Given the description of an element on the screen output the (x, y) to click on. 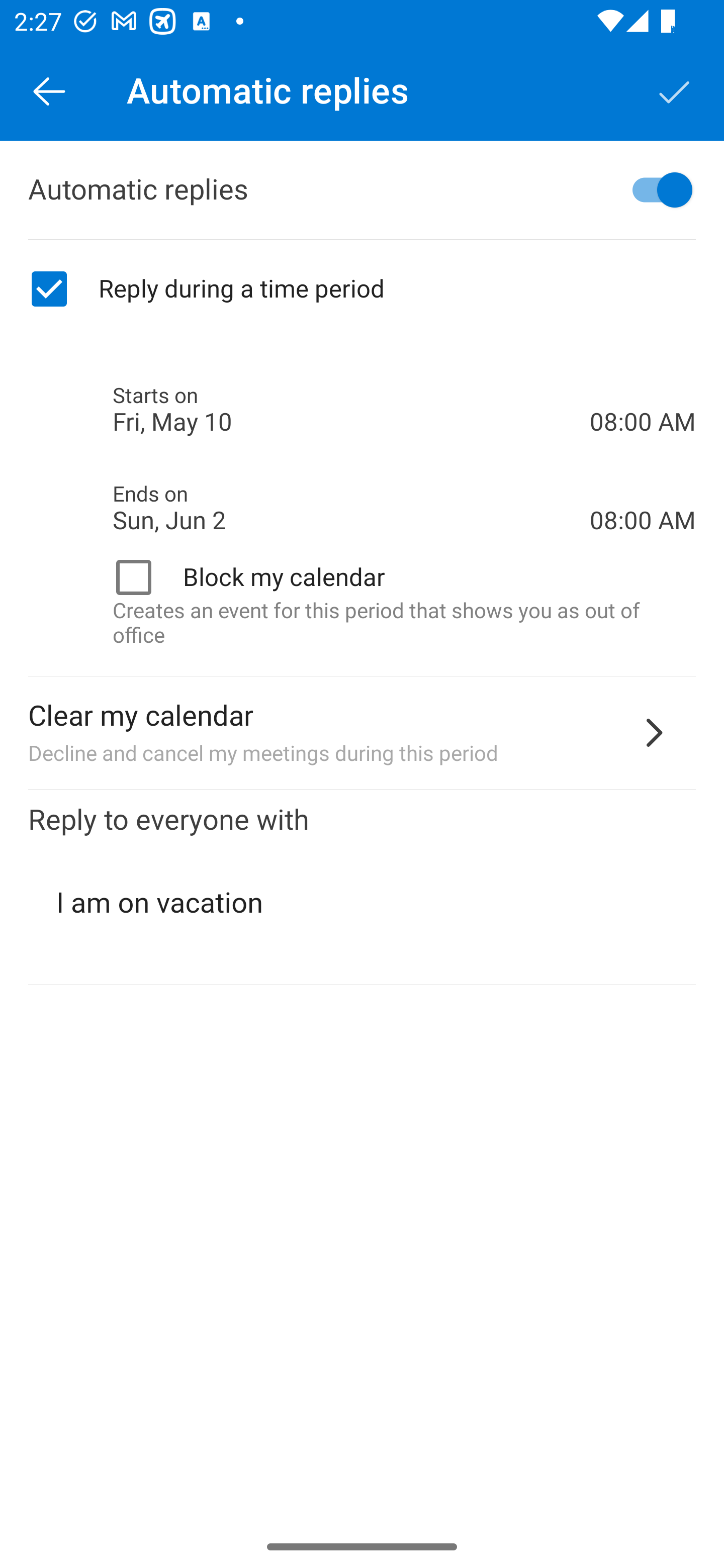
Back (49, 90)
Save (674, 90)
Automatic replies (362, 190)
Reply during a time period (362, 288)
08:00 AM (642, 387)
Starts on Fri, May 10 (351, 409)
08:00 AM (642, 485)
Ends on Sun, Jun 2 (351, 507)
Reply to everyone with Edit box I am on vacation (361, 887)
I am on vacation (363, 902)
